Given the description of an element on the screen output the (x, y) to click on. 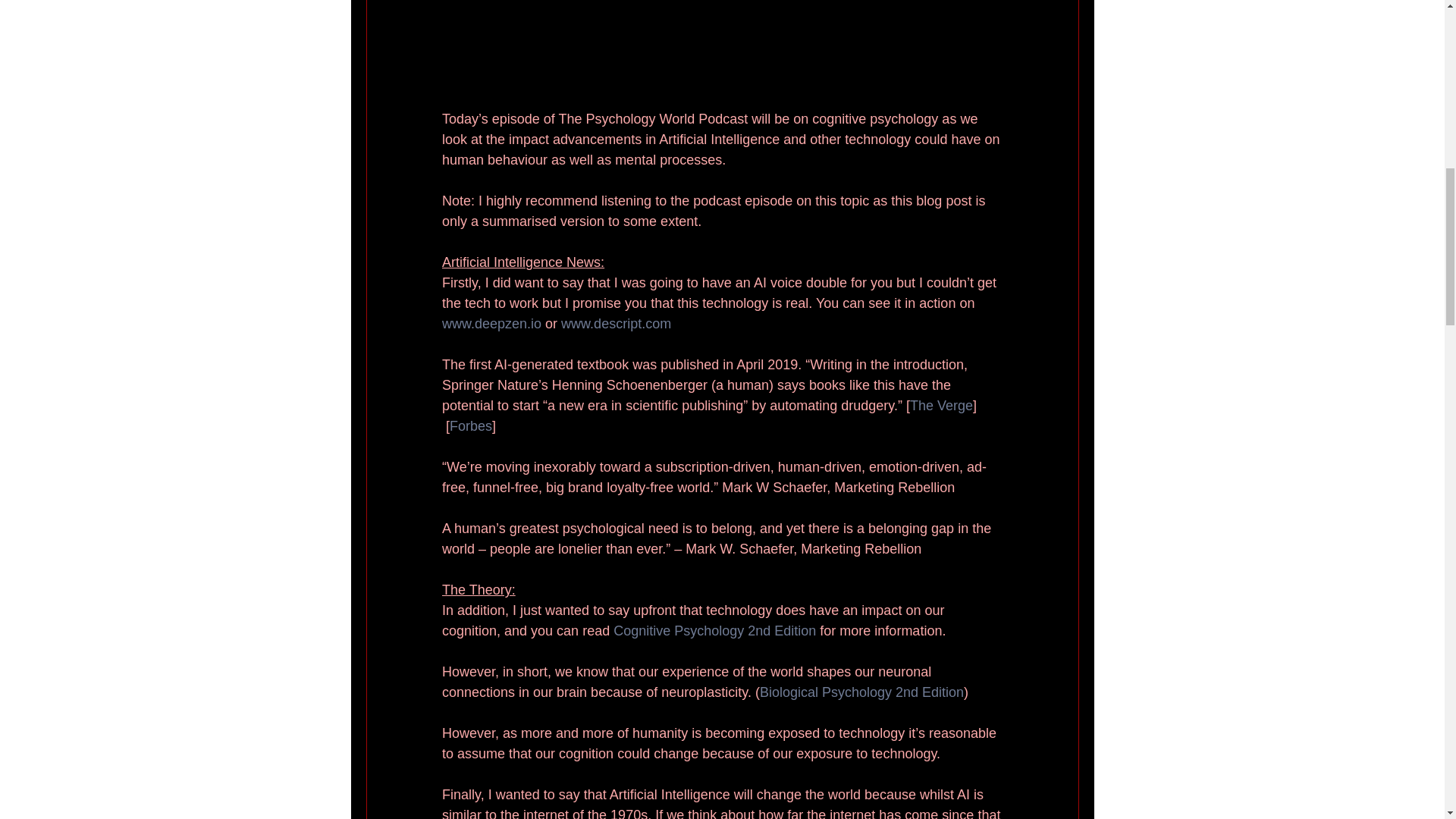
Biological Psychology 2nd Edition (860, 693)
Forbes (470, 426)
The Verge (940, 406)
Cognitive Psychology 2nd Edition (713, 631)
www.deepzen.io (490, 324)
www.descript.com (615, 324)
